Given the description of an element on the screen output the (x, y) to click on. 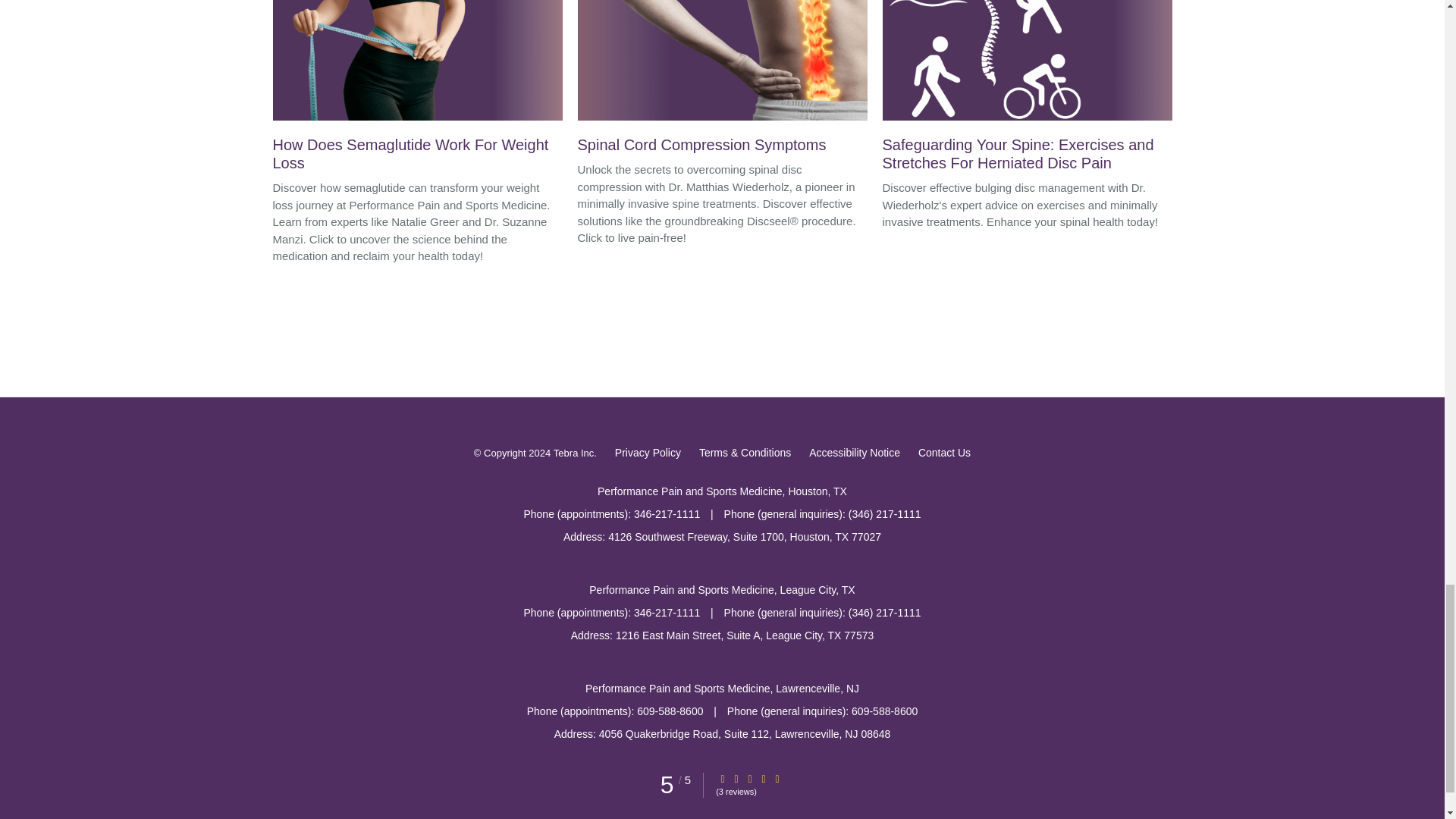
Star Rating (777, 778)
Star Rating (749, 778)
Star Rating (735, 778)
Star Rating (763, 778)
Star Rating (722, 778)
